Given the description of an element on the screen output the (x, y) to click on. 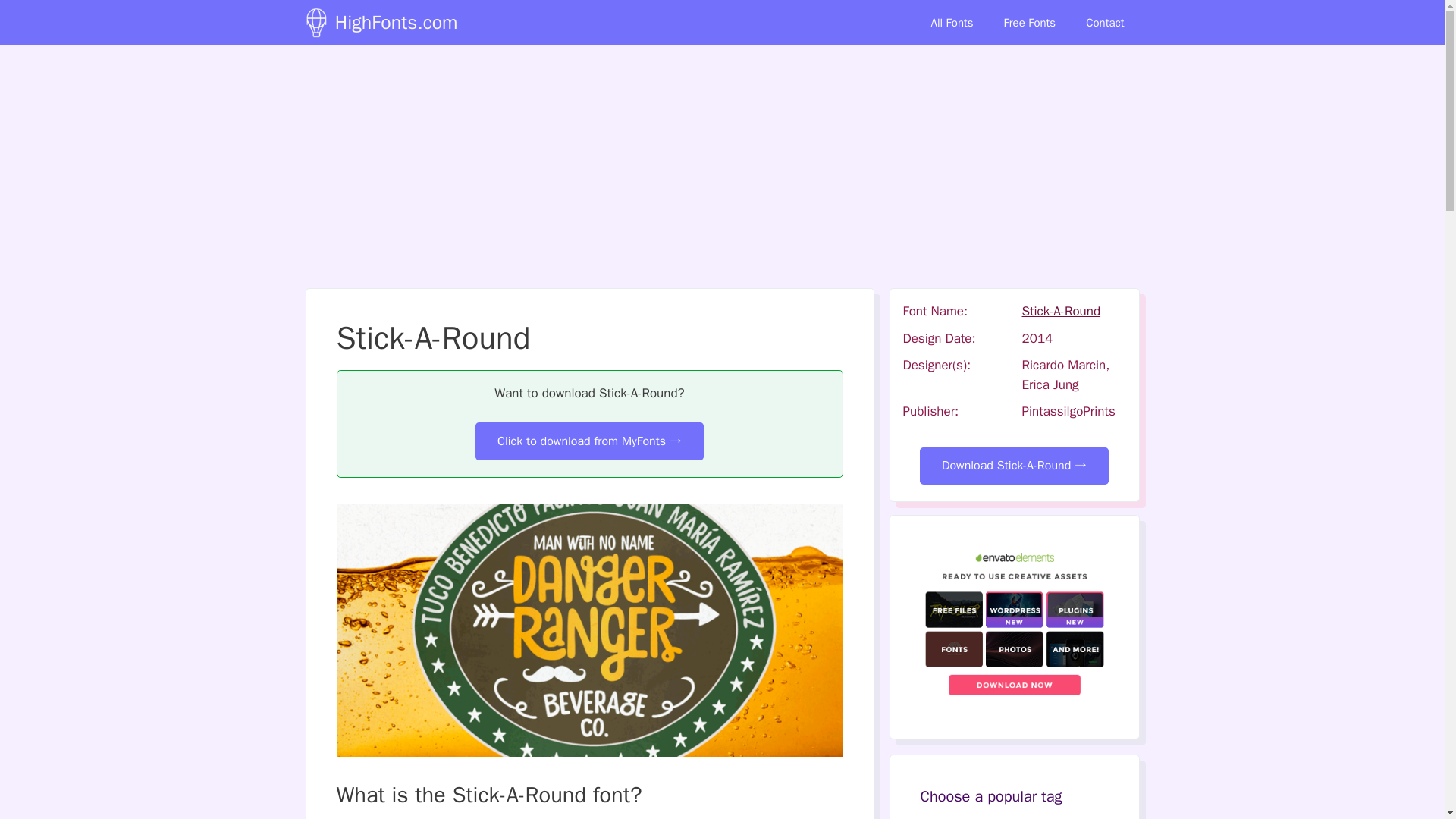
Stick-A-Round (1061, 311)
Contact (1104, 22)
Free Fonts (1029, 22)
HighFonts.com (315, 22)
All Fonts (951, 22)
HighFonts.com (319, 22)
HighFonts.com (396, 22)
